Given the description of an element on the screen output the (x, y) to click on. 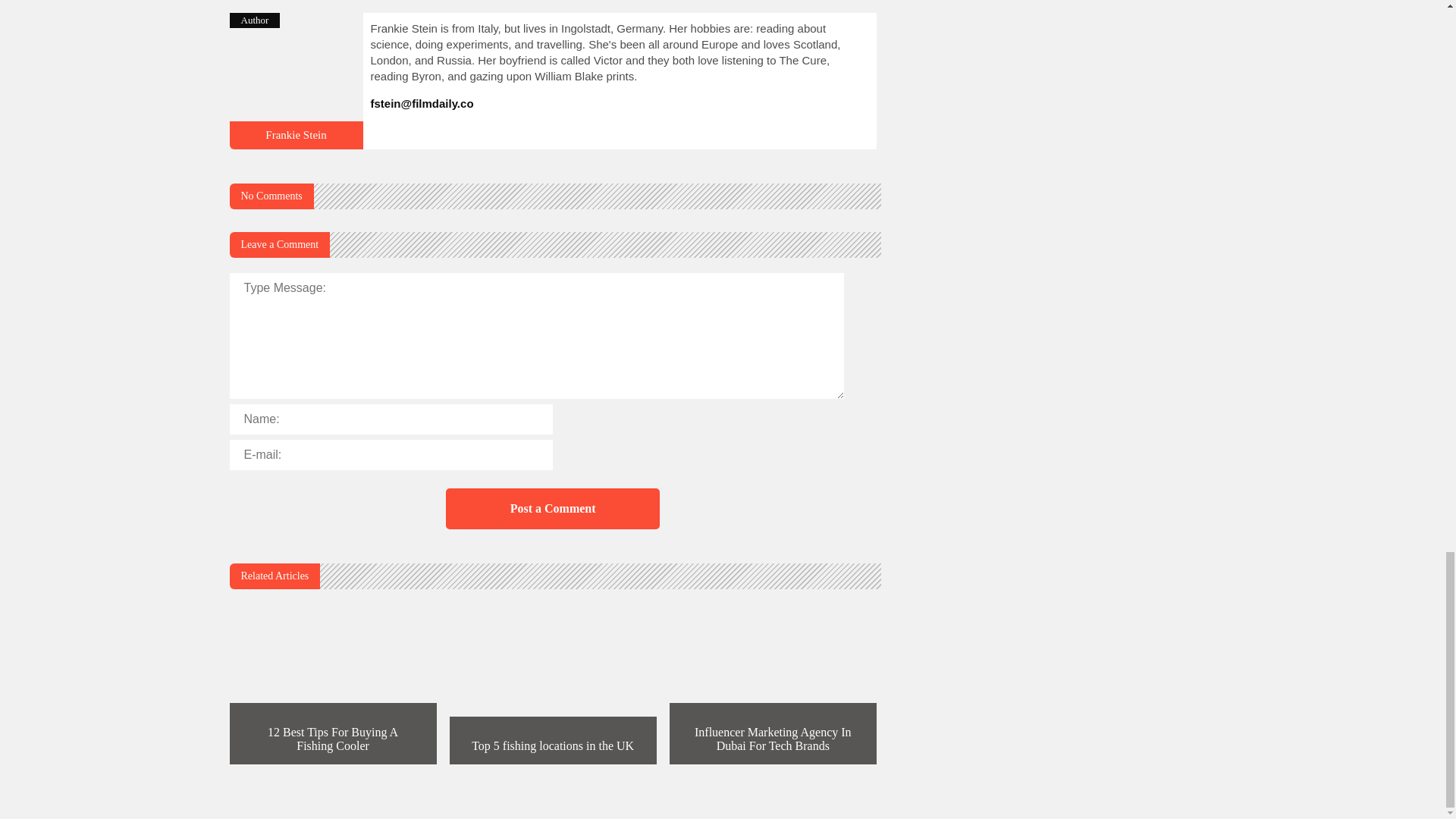
Post a Comment (552, 508)
Top 5 Fun Dubai Deep Sea Fishing Facts (295, 142)
Top 5 Fun Dubai Deep Sea Fishing Facts (295, 134)
